Given the description of an element on the screen output the (x, y) to click on. 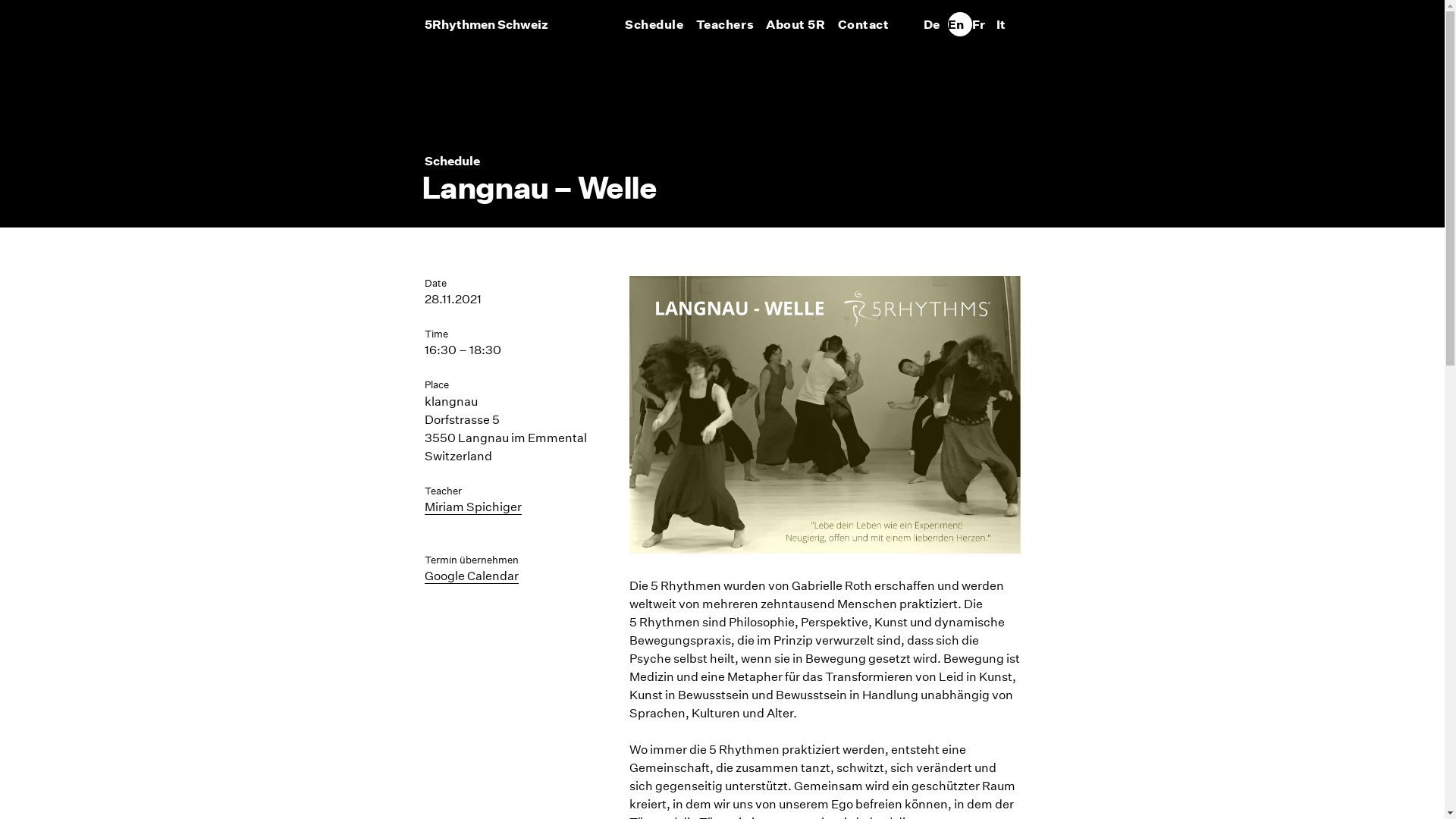
De Element type: text (935, 24)
En Element type: text (959, 24)
Teachers Element type: text (724, 24)
About 5R Element type: text (795, 24)
It Element type: text (1008, 24)
Schedule Element type: text (653, 24)
Miriam Spichiger Element type: text (472, 506)
Fr Element type: text (984, 24)
Contact Element type: text (863, 24)
Google Calendar Element type: text (471, 575)
5Rhythmen Schweiz Element type: text (486, 23)
